Given the description of an element on the screen output the (x, y) to click on. 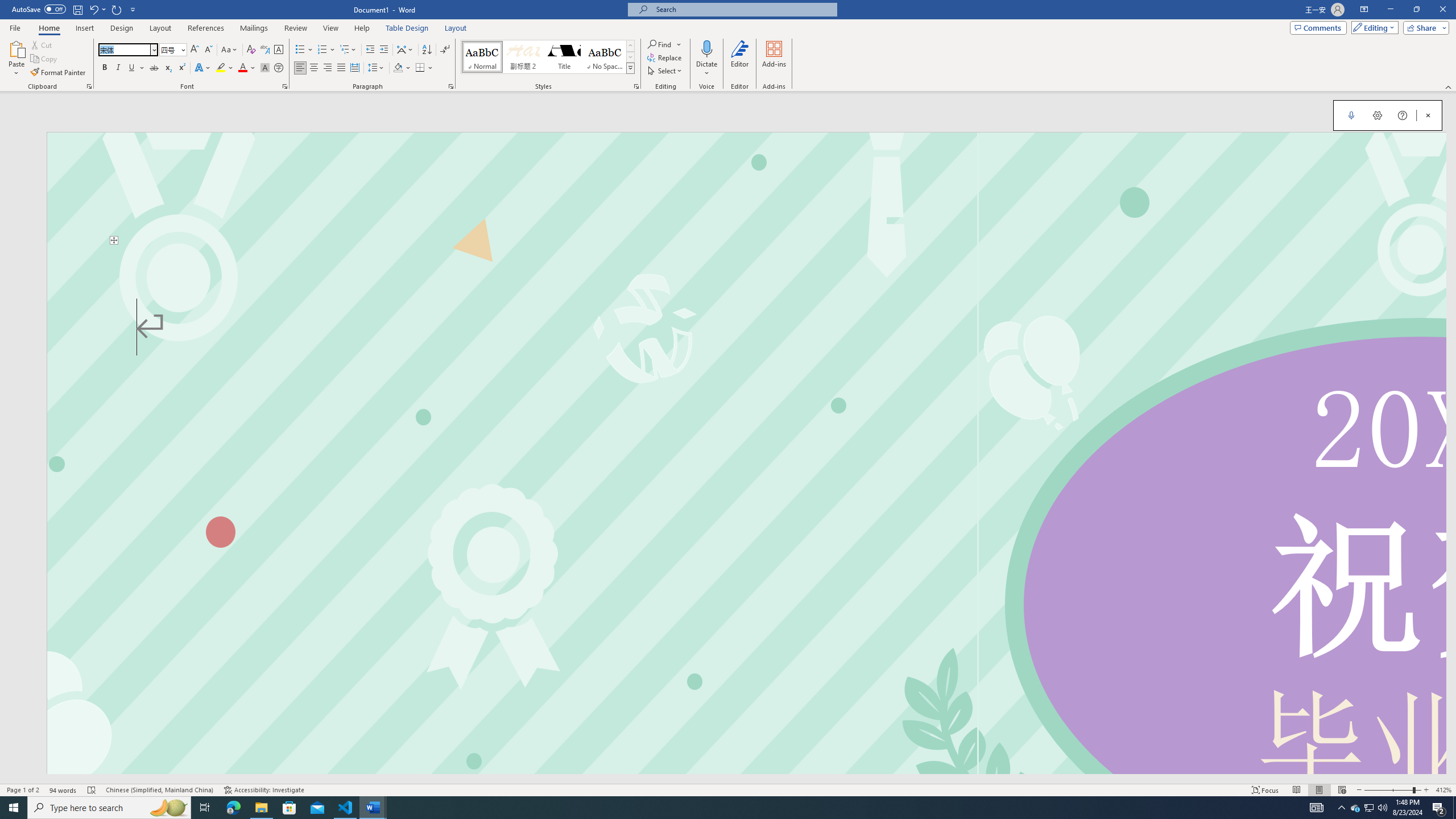
Dictation Settings (1377, 115)
